Given the description of an element on the screen output the (x, y) to click on. 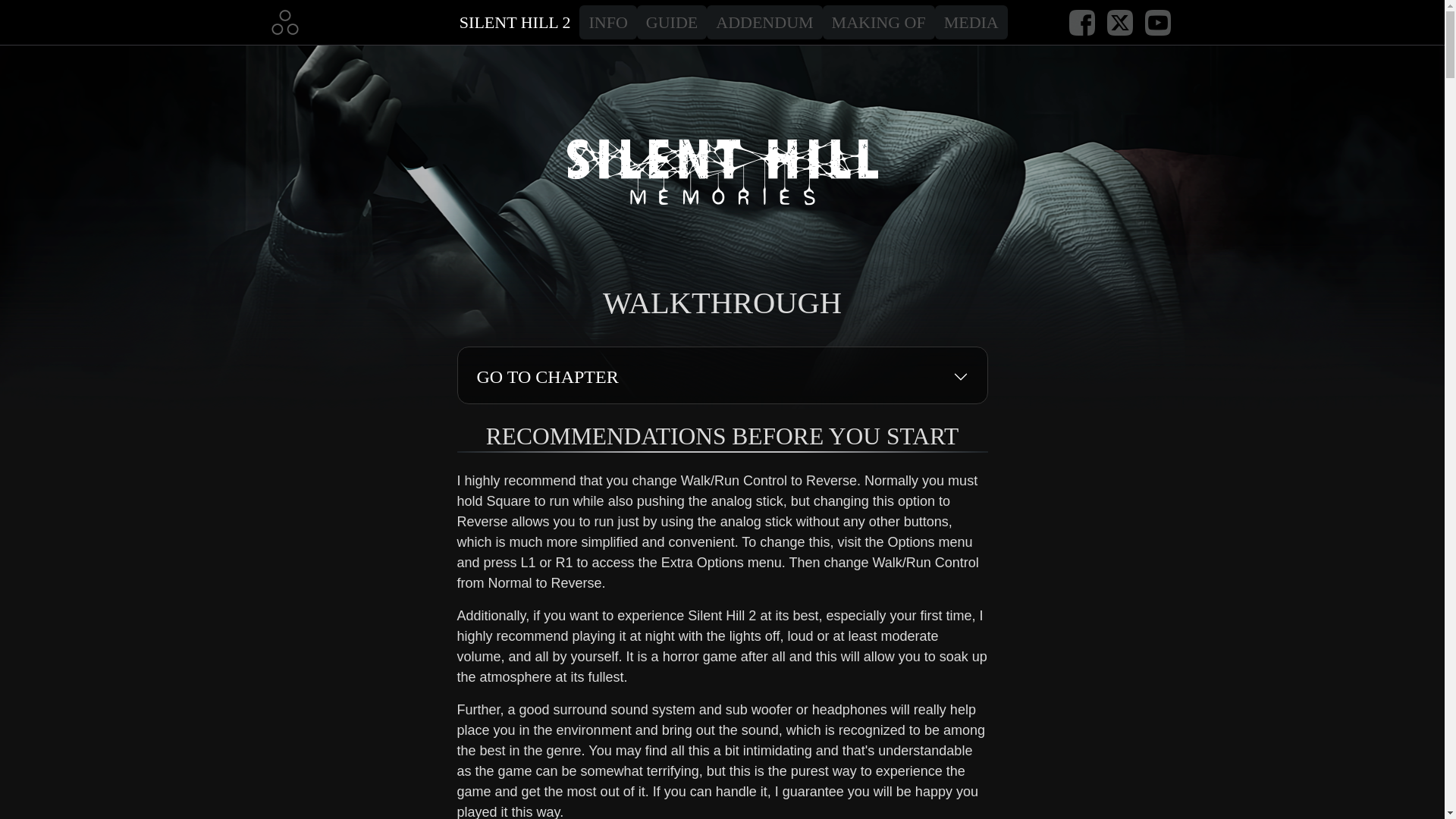
GUIDE (671, 21)
MAKING OF (878, 21)
YouTube (1157, 22)
INFO (607, 21)
ADDENDUM (764, 21)
Facebook (1081, 22)
Home (283, 21)
X (1119, 22)
